Given the description of an element on the screen output the (x, y) to click on. 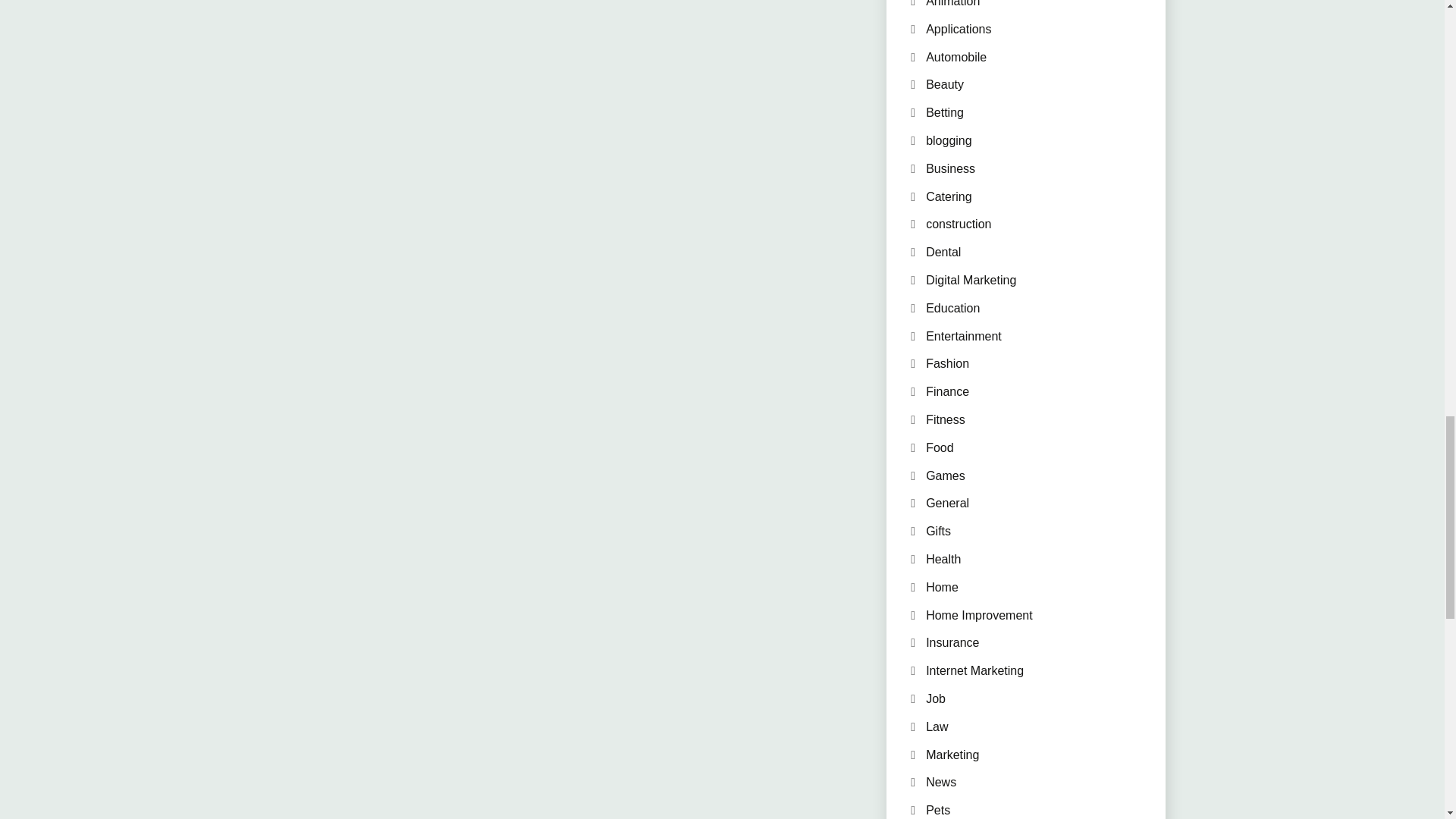
Automobile (956, 56)
Applications (958, 29)
Animation (952, 3)
